Given the description of an element on the screen output the (x, y) to click on. 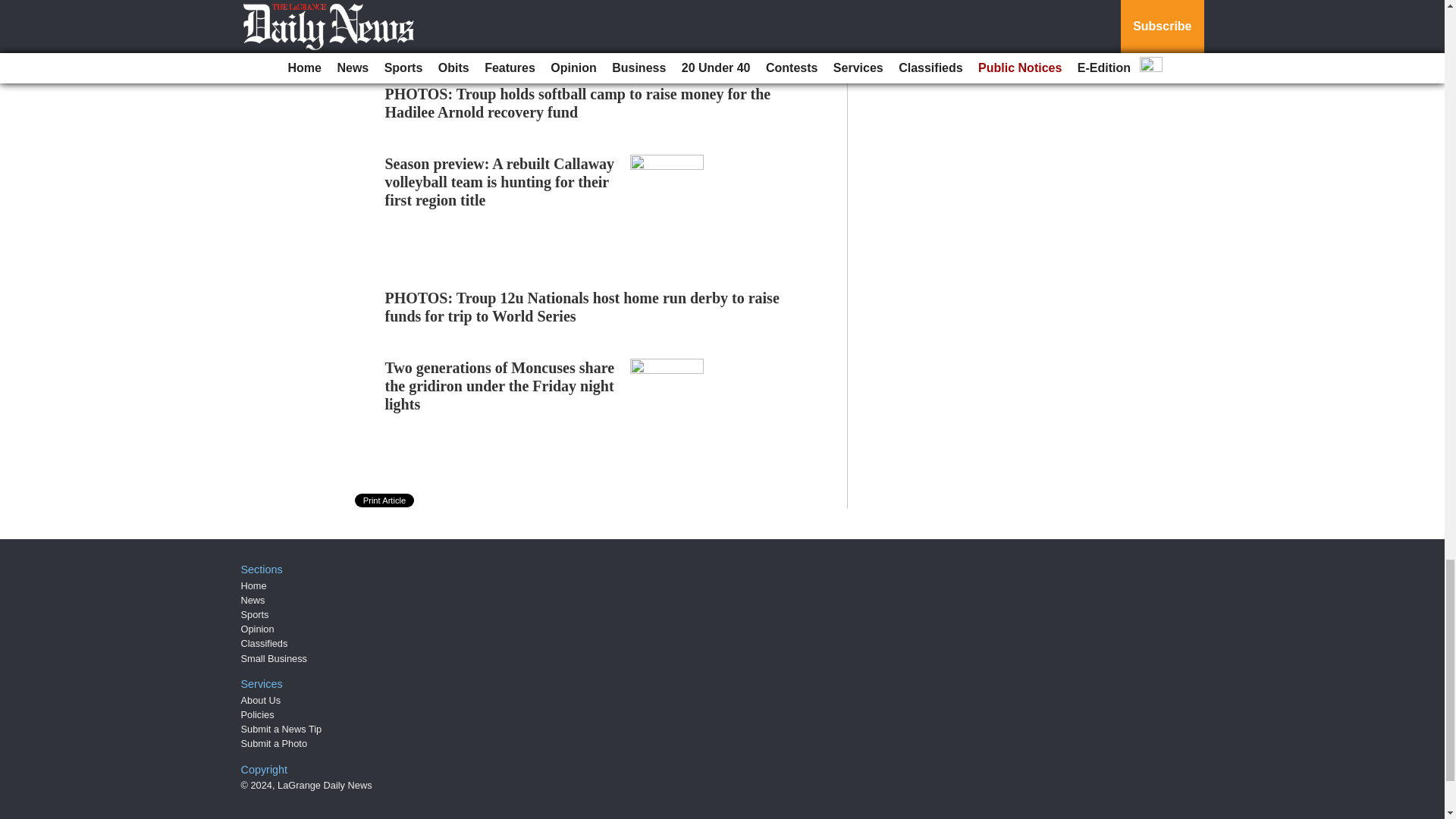
Sports (255, 614)
Home (253, 585)
Print Article (384, 499)
News (252, 600)
